Given the description of an element on the screen output the (x, y) to click on. 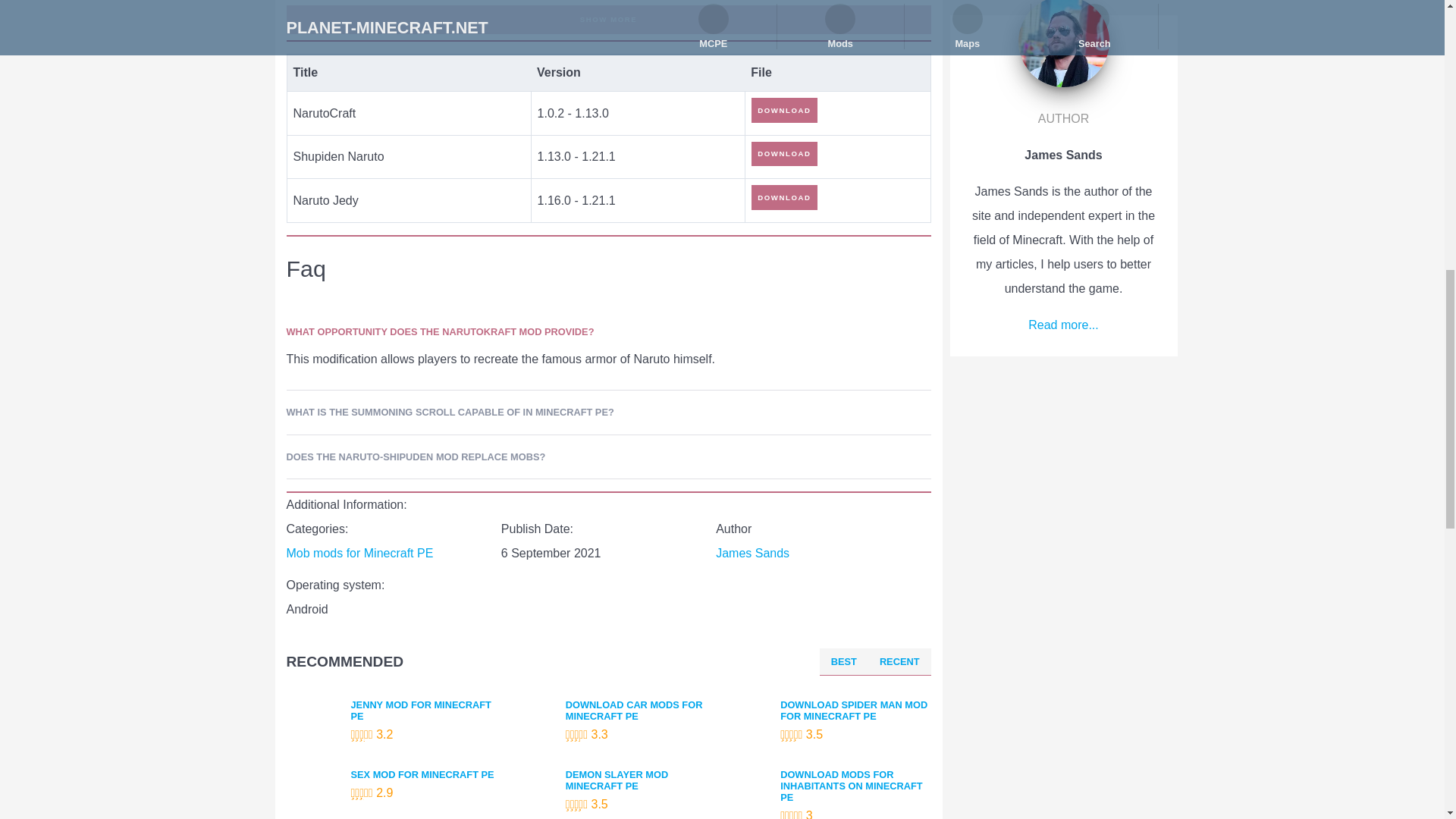
SEX MOD FOR MINECRAFT PE (425, 774)
Mob mods for Minecraft PE (359, 553)
DOWNLOAD (783, 109)
James Sands (752, 553)
DOWNLOAD CAR MODS FOR MINECRAFT PE (641, 710)
DOWNLOAD SPIDER MAN MOD FOR MINECRAFT PE (855, 710)
DOWNLOAD (783, 153)
Mob mods for Minecraft PE (359, 553)
Show more (608, 19)
JENNY MOD FOR MINECRAFT PE (425, 710)
